Given the description of an element on the screen output the (x, y) to click on. 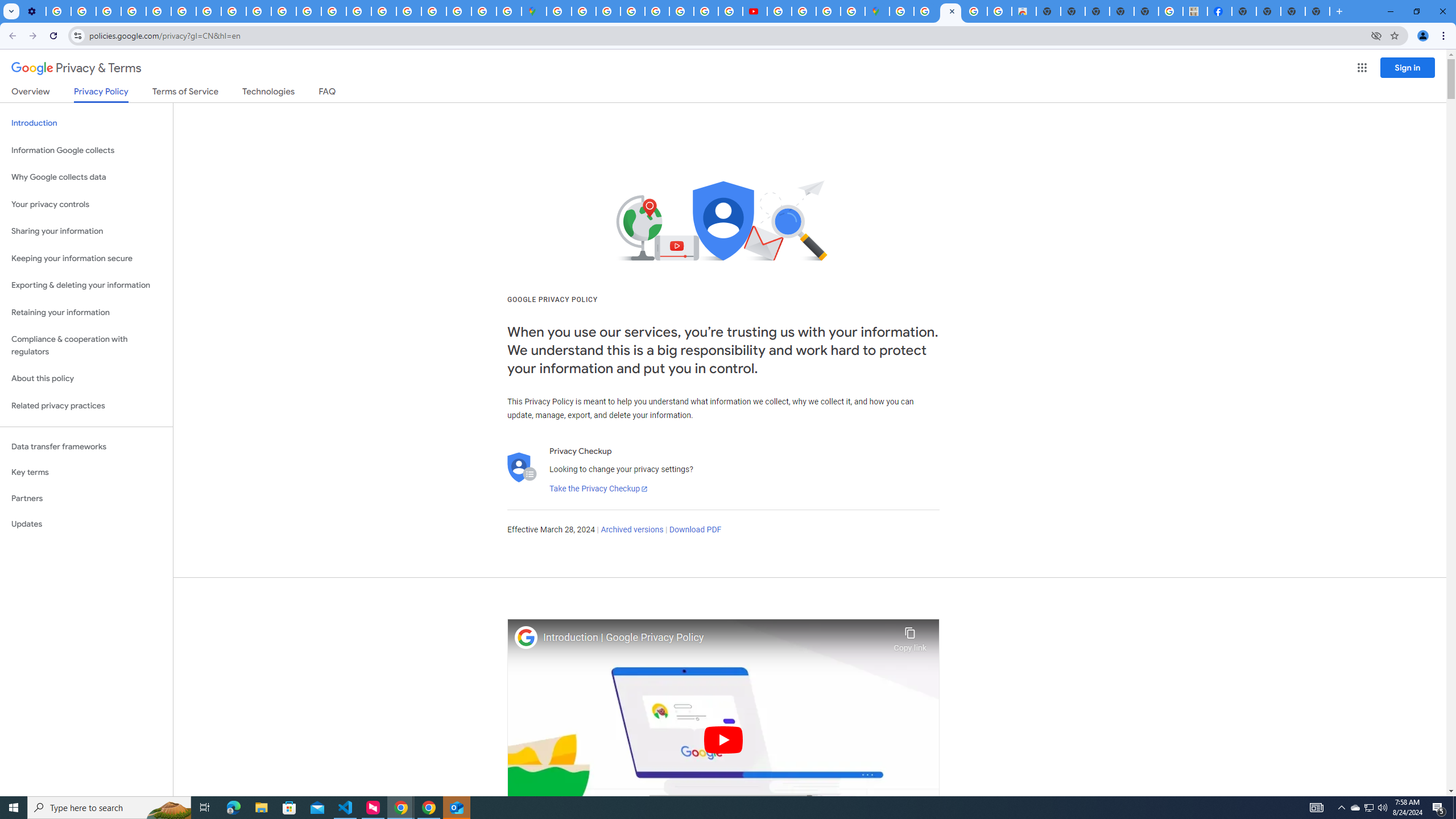
Sign in - Google Accounts (583, 11)
Photo image of Google (526, 636)
Copy link (909, 636)
New Tab (1243, 11)
